Given the description of an element on the screen output the (x, y) to click on. 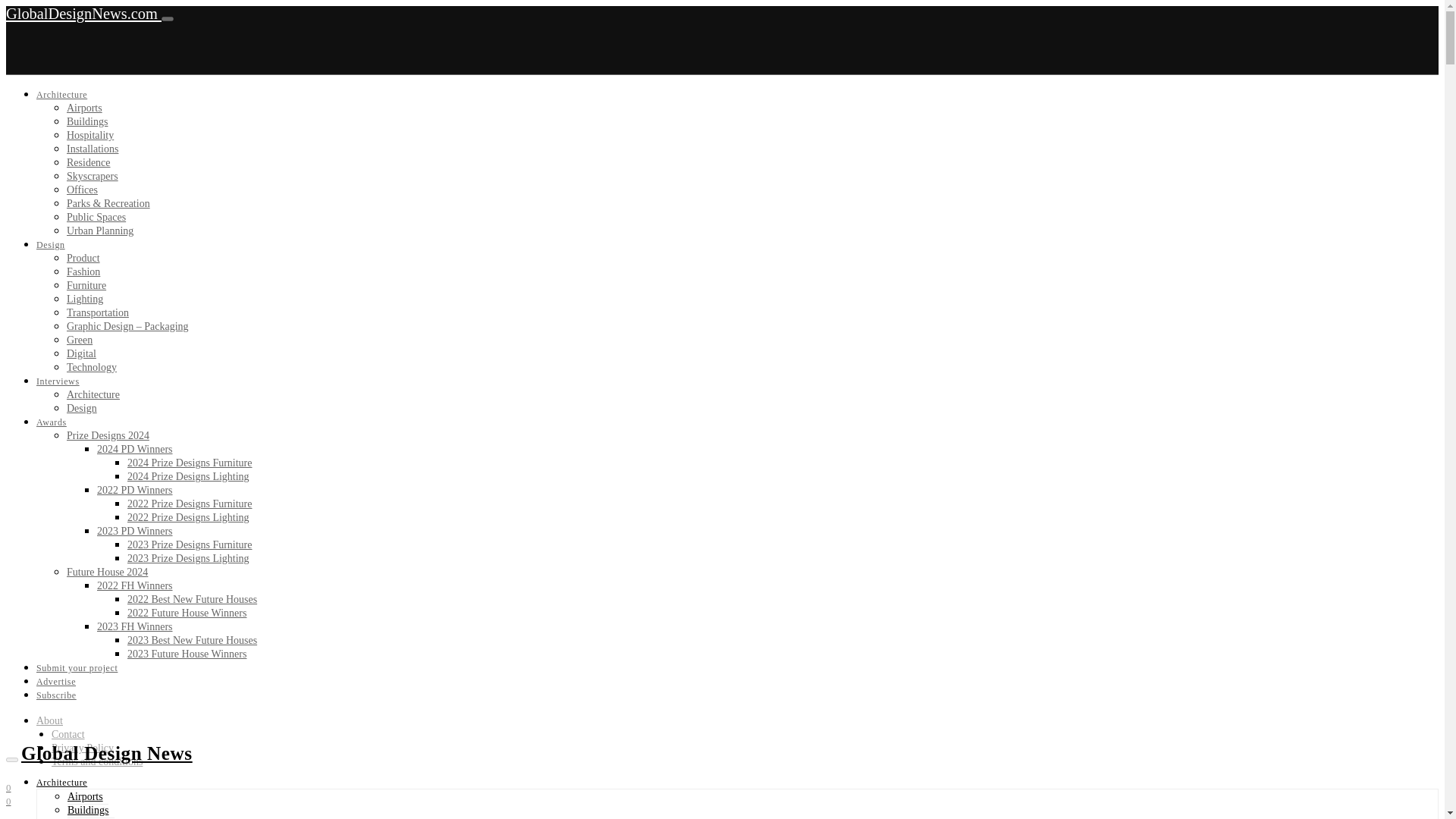
Lighting (84, 298)
Green (79, 339)
Public Spaces (95, 216)
Airports (83, 107)
Installations (91, 148)
Offices (81, 189)
Future House 2024 (107, 572)
2024 Prize Designs Lighting (188, 476)
2024 PD Winners (135, 449)
2022 PD Winners (135, 490)
